Given the description of an element on the screen output the (x, y) to click on. 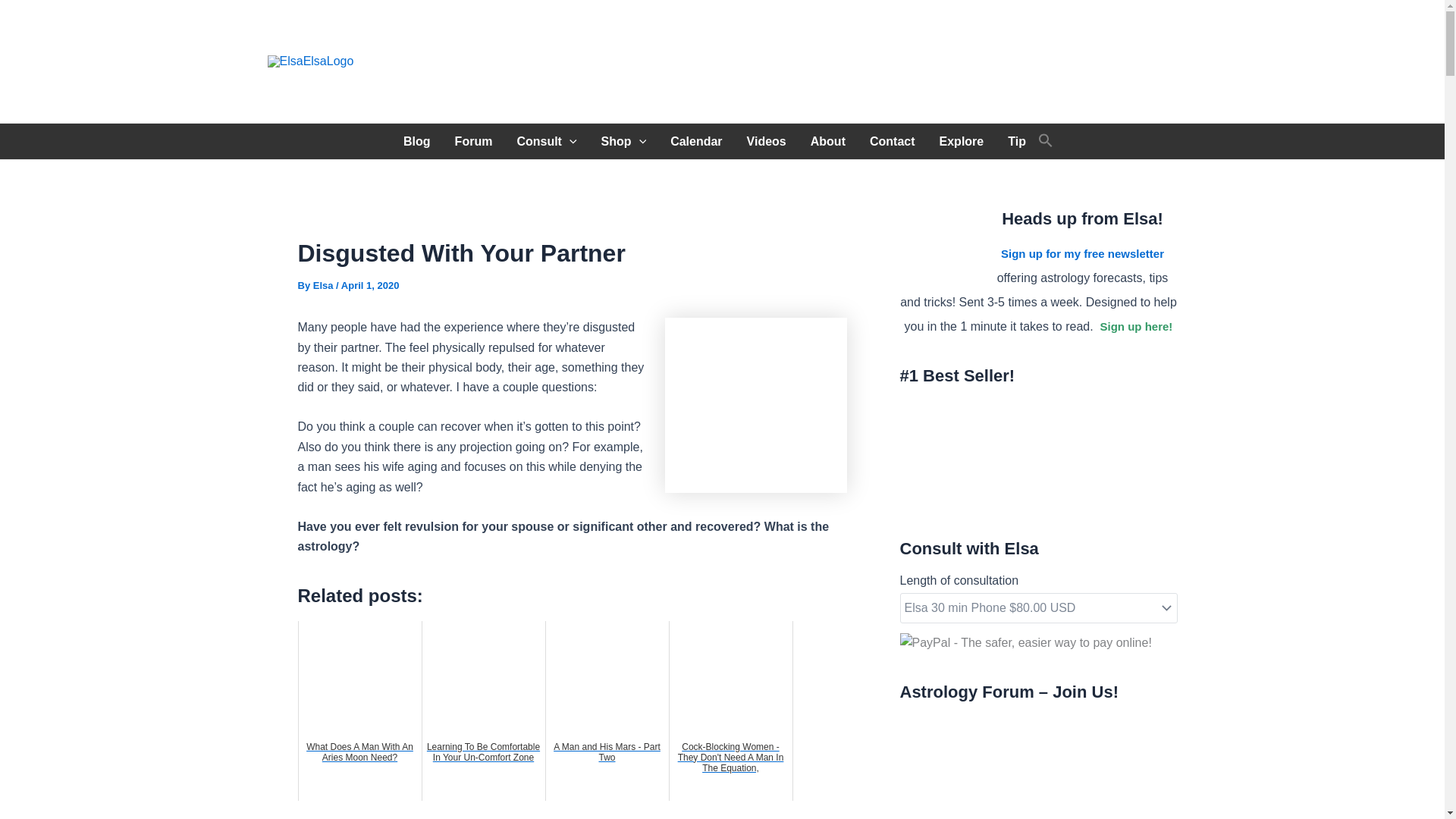
Forum (473, 140)
Explore (961, 140)
View all posts by Elsa (324, 285)
Tip (1016, 140)
pluto in a quadriga (754, 405)
Blog (416, 140)
Shop (624, 140)
Contact (892, 140)
Elsa (324, 285)
Videos (766, 140)
